Given the description of an element on the screen output the (x, y) to click on. 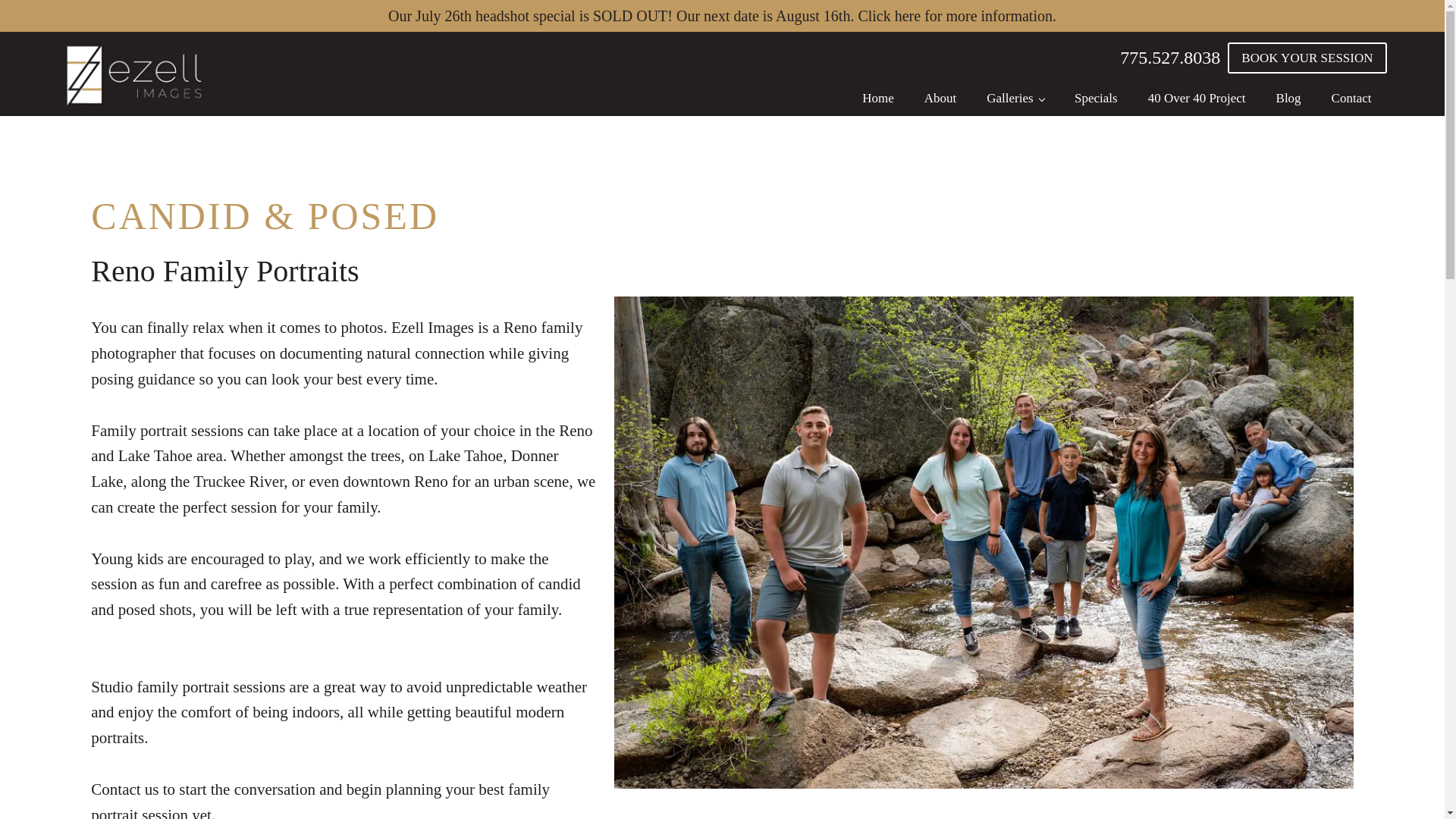
About (940, 98)
Contact (1351, 98)
BOOK YOUR SESSION (1306, 57)
775.527.8038 (1169, 57)
Specials (1095, 98)
Home (877, 98)
Galleries (1015, 98)
Blog (1288, 98)
40 Over 40 Project (1196, 98)
